Given the description of an element on the screen output the (x, y) to click on. 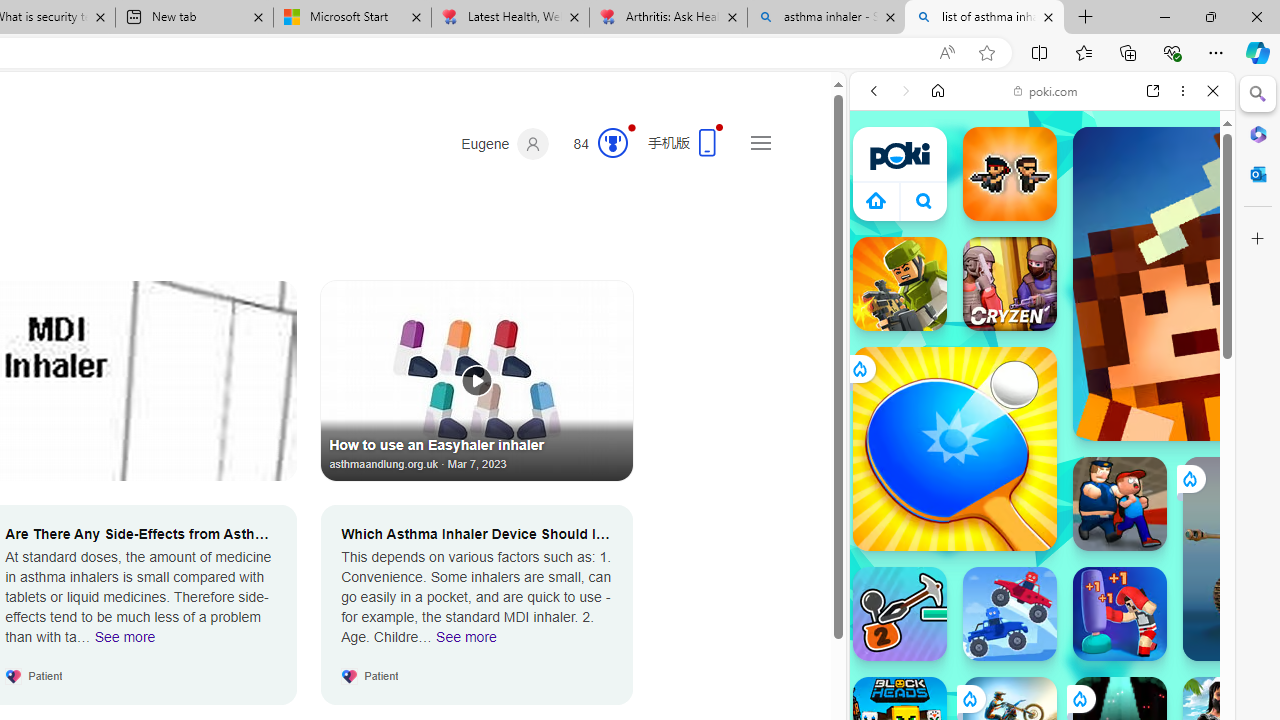
Shooting Games (1042, 519)
Battle Wheels (1009, 613)
Settings and quick links (760, 142)
Class: B_5ykBA46kDOxiz_R9wm (923, 200)
Kour.io (899, 283)
Io Games (1042, 617)
Ping Pong Go! Ping Pong Go! (954, 448)
Kour.io Kour.io (899, 283)
